Given the description of an element on the screen output the (x, y) to click on. 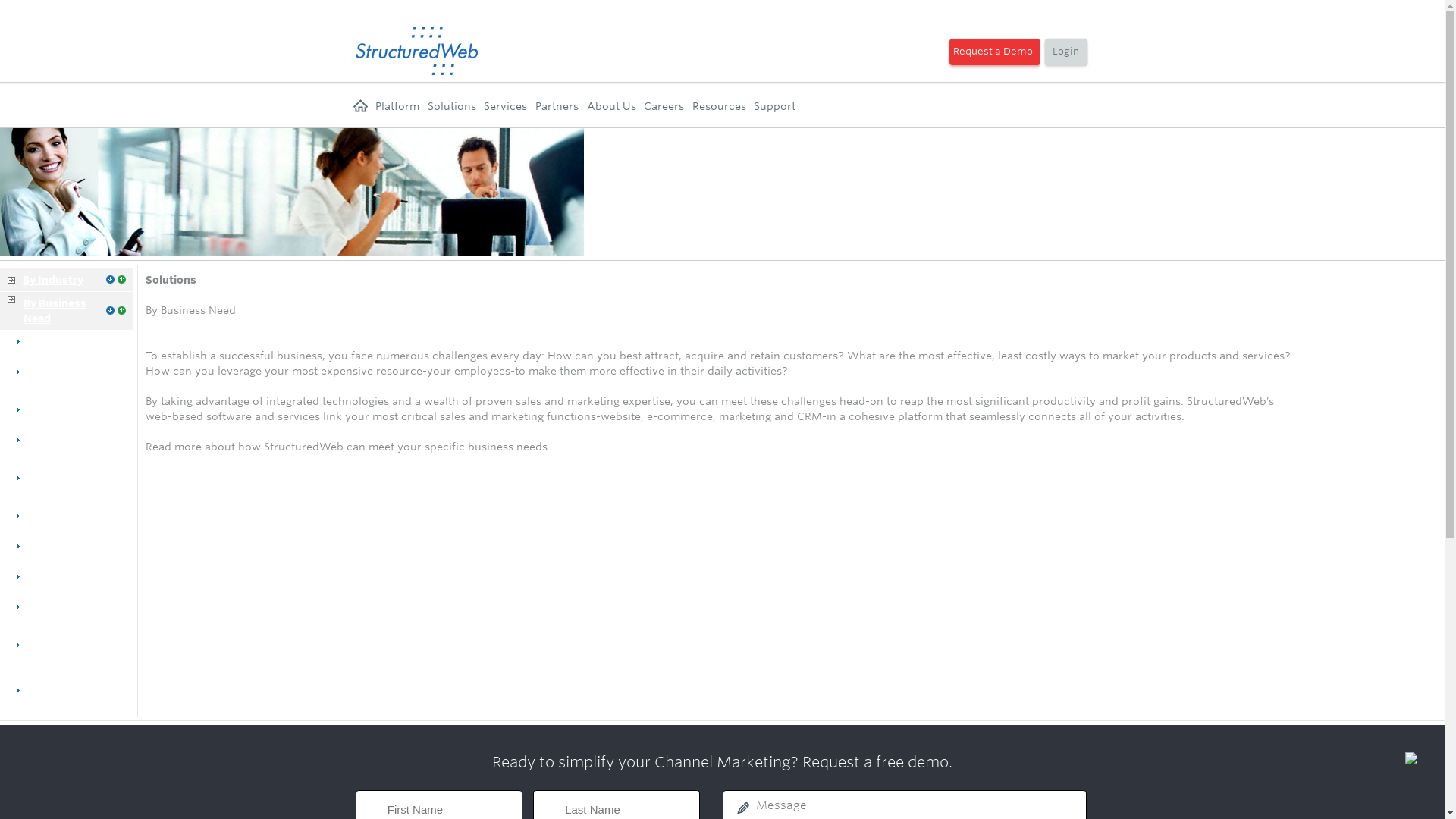
Home (360, 106)
Services (505, 106)
Login (1065, 53)
Request a Demo (993, 53)
By Industry (52, 279)
Resources (719, 106)
Careers (663, 106)
Solutions (452, 106)
Support (774, 106)
About Us (611, 106)
